Given the description of an element on the screen output the (x, y) to click on. 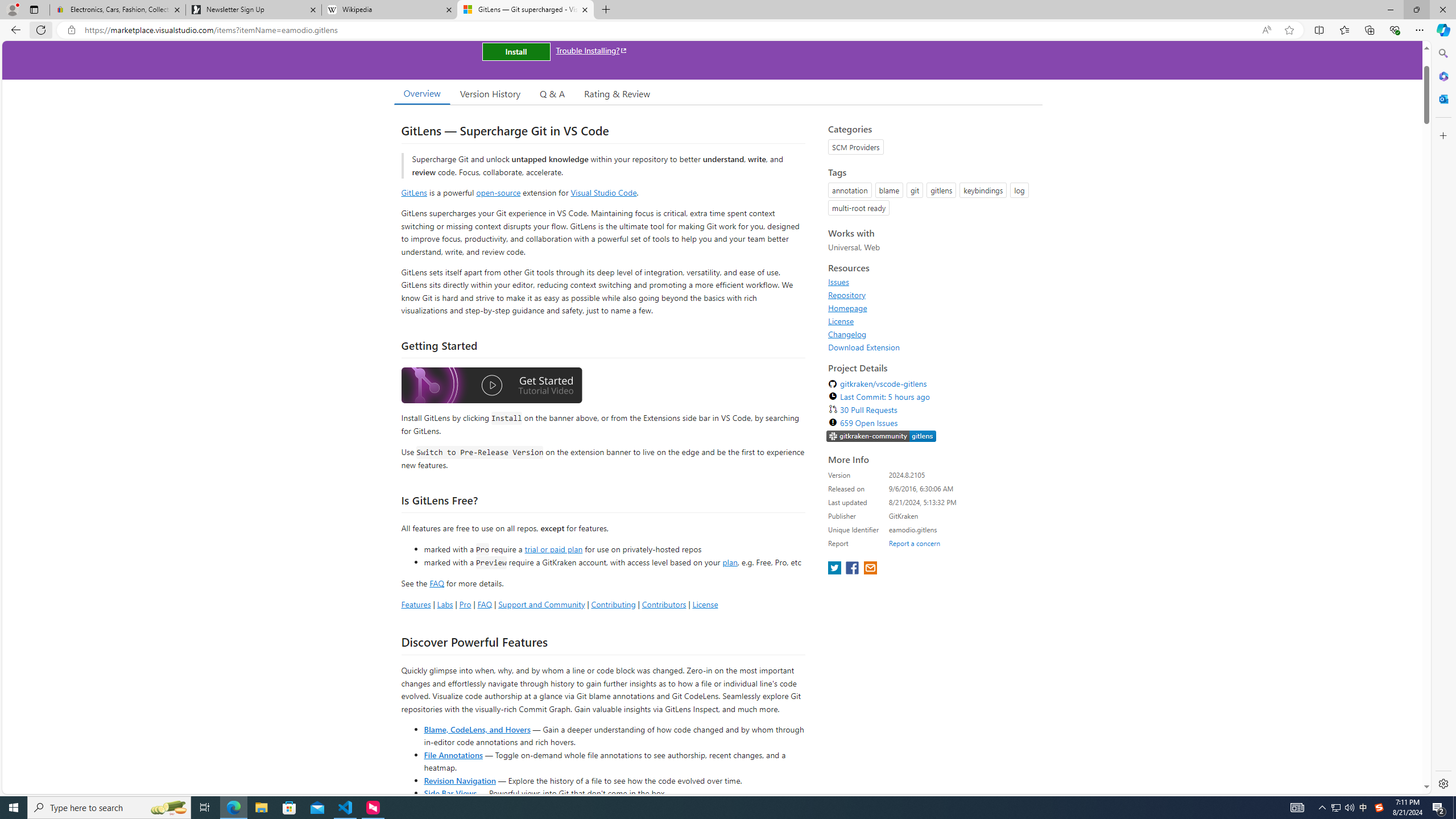
plan (730, 562)
Q & A (552, 92)
Report a concern (914, 542)
Visual Studio Code (603, 192)
https://slack.gitkraken.com// (881, 436)
